Given the description of an element on the screen output the (x, y) to click on. 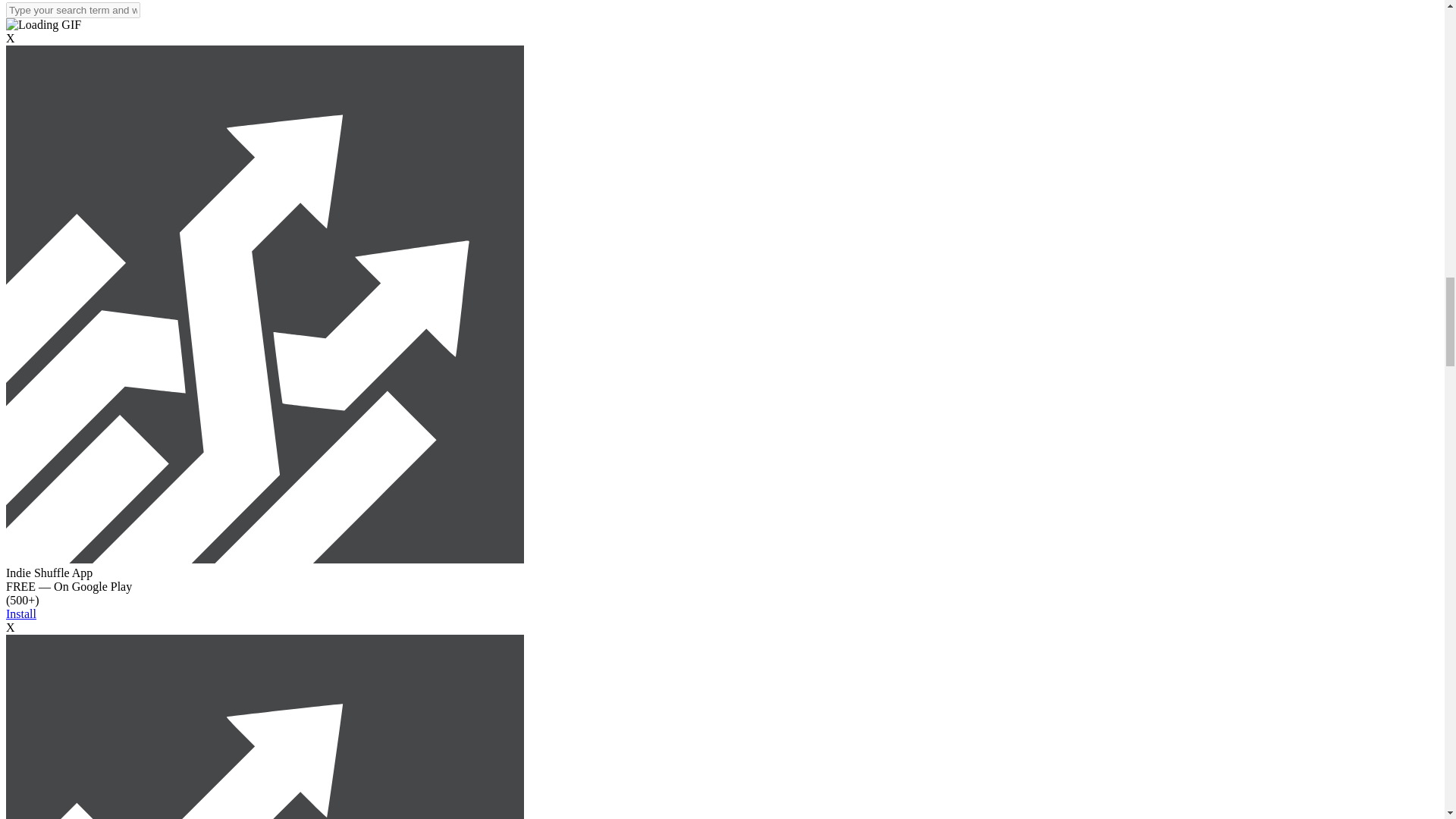
Install Android App (264, 558)
